Given the description of an element on the screen output the (x, y) to click on. 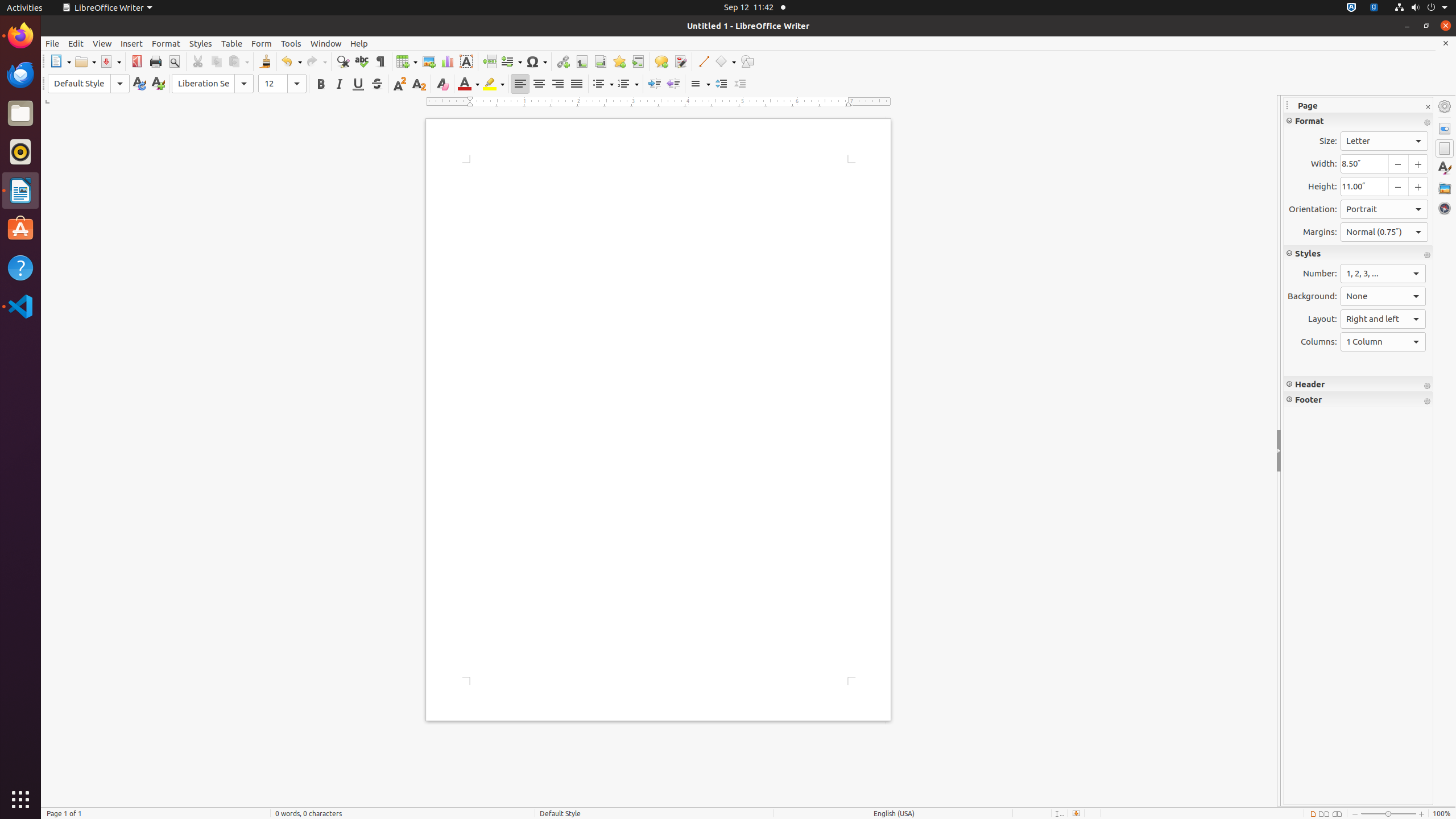
Clear Element type: push-button (441, 83)
Track Changes Functions Element type: toggle-button (679, 61)
Margins: Element type: combo-box (1384, 231)
Properties Element type: radio-button (1444, 128)
Layout: Element type: combo-box (1382, 318)
